Given the description of an element on the screen output the (x, y) to click on. 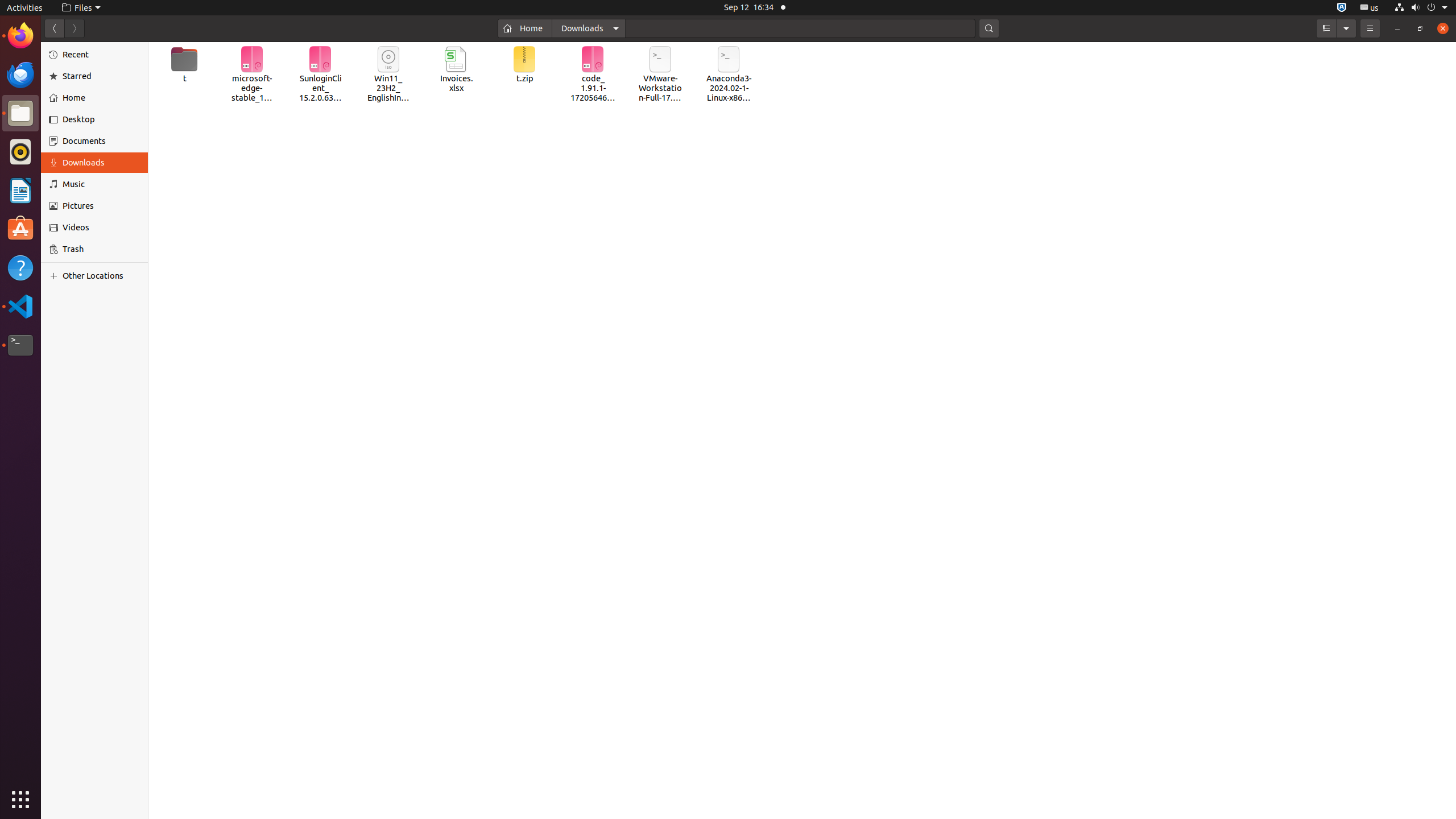
Minimize Element type: push-button (1397, 27)
